Given the description of an element on the screen output the (x, y) to click on. 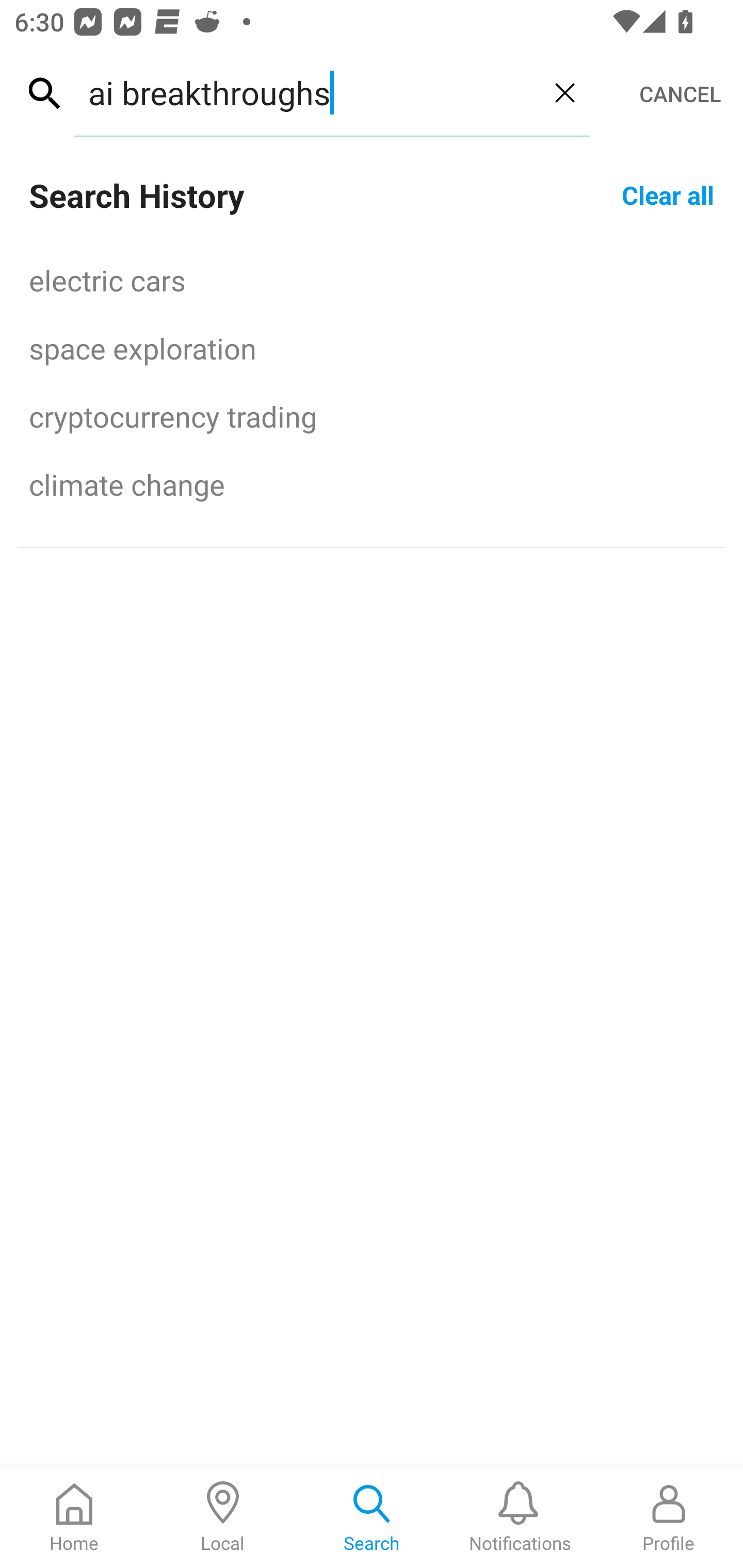
Clear query (564, 92)
CANCEL (680, 93)
ai breakthroughs (306, 92)
Clear all (667, 194)
electric cars (371, 279)
space exploration (371, 347)
cryptocurrency trading (371, 416)
climate change (371, 484)
Home (74, 1517)
Local (222, 1517)
Notifications (519, 1517)
Profile (668, 1517)
